Given the description of an element on the screen output the (x, y) to click on. 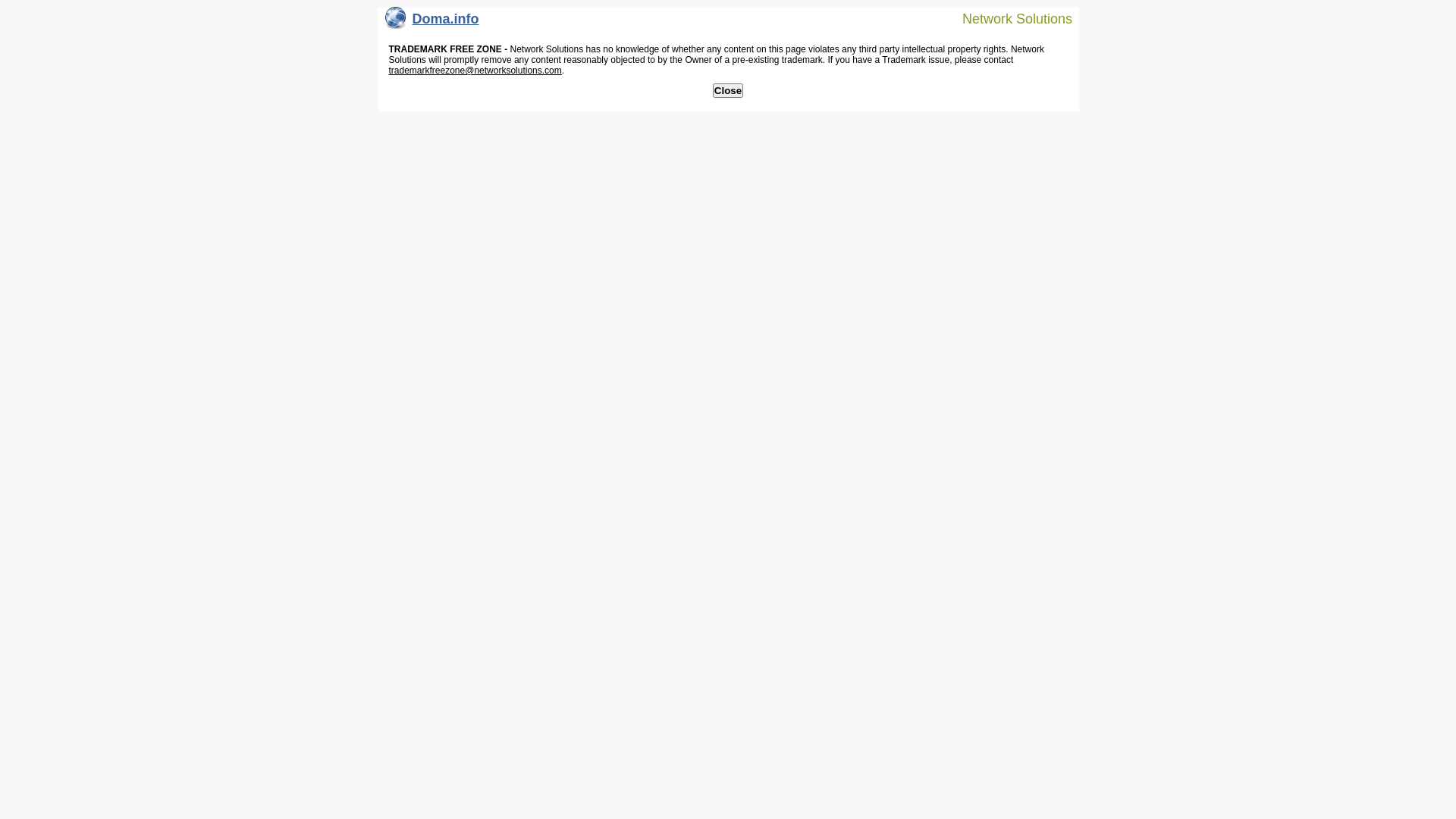
Network Solutions Element type: text (1007, 17)
Doma.info Element type: text (432, 21)
Close Element type: text (727, 90)
trademarkfreezone@networksolutions.com Element type: text (474, 70)
